Given the description of an element on the screen output the (x, y) to click on. 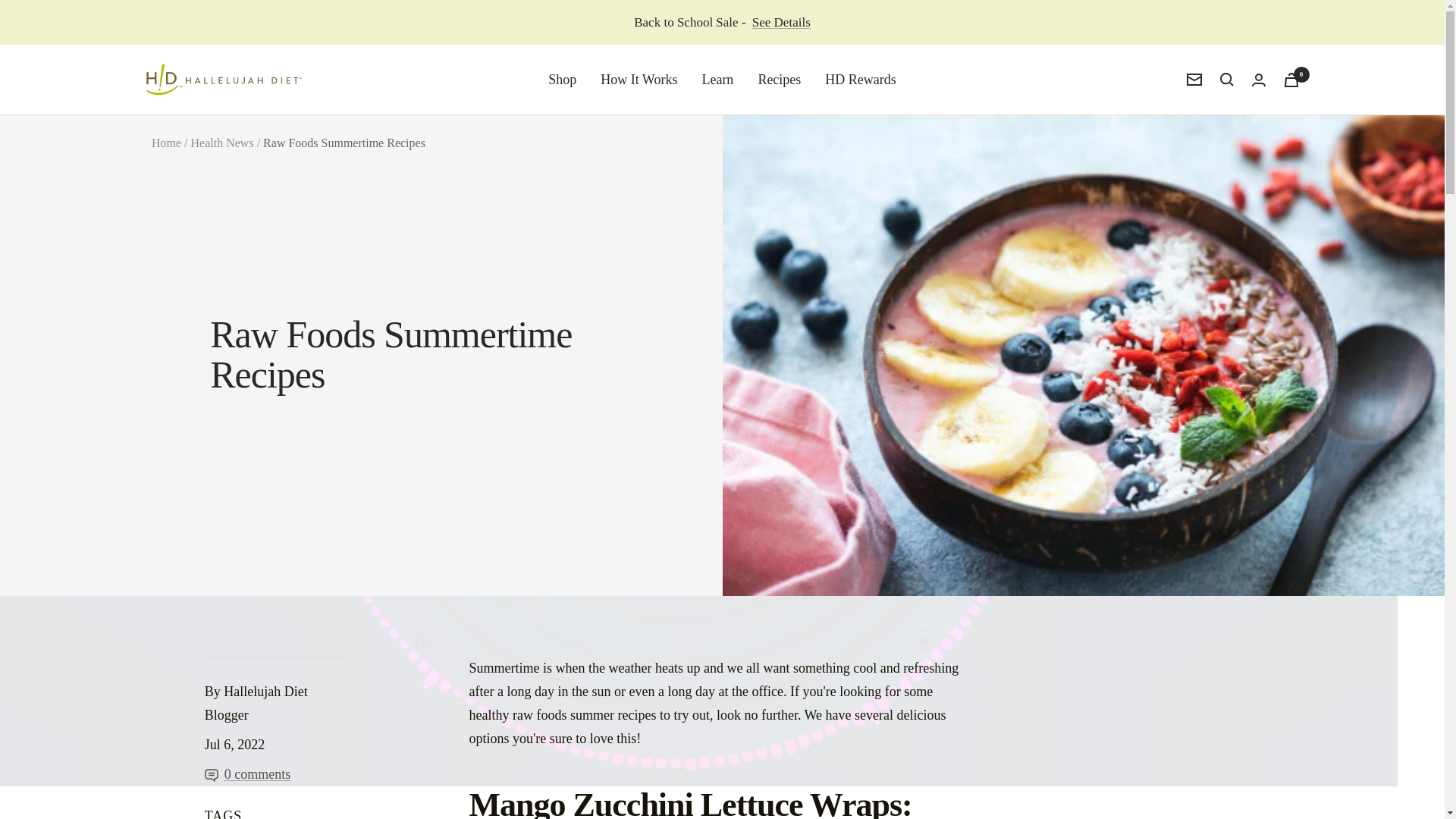
Hallelujah Diet (223, 79)
Shop (562, 79)
0 (1291, 79)
See Details (781, 22)
Learn (717, 79)
Recipes (778, 79)
HD Rewards (860, 79)
Newsletter (1194, 79)
How It Works (638, 79)
